Given the description of an element on the screen output the (x, y) to click on. 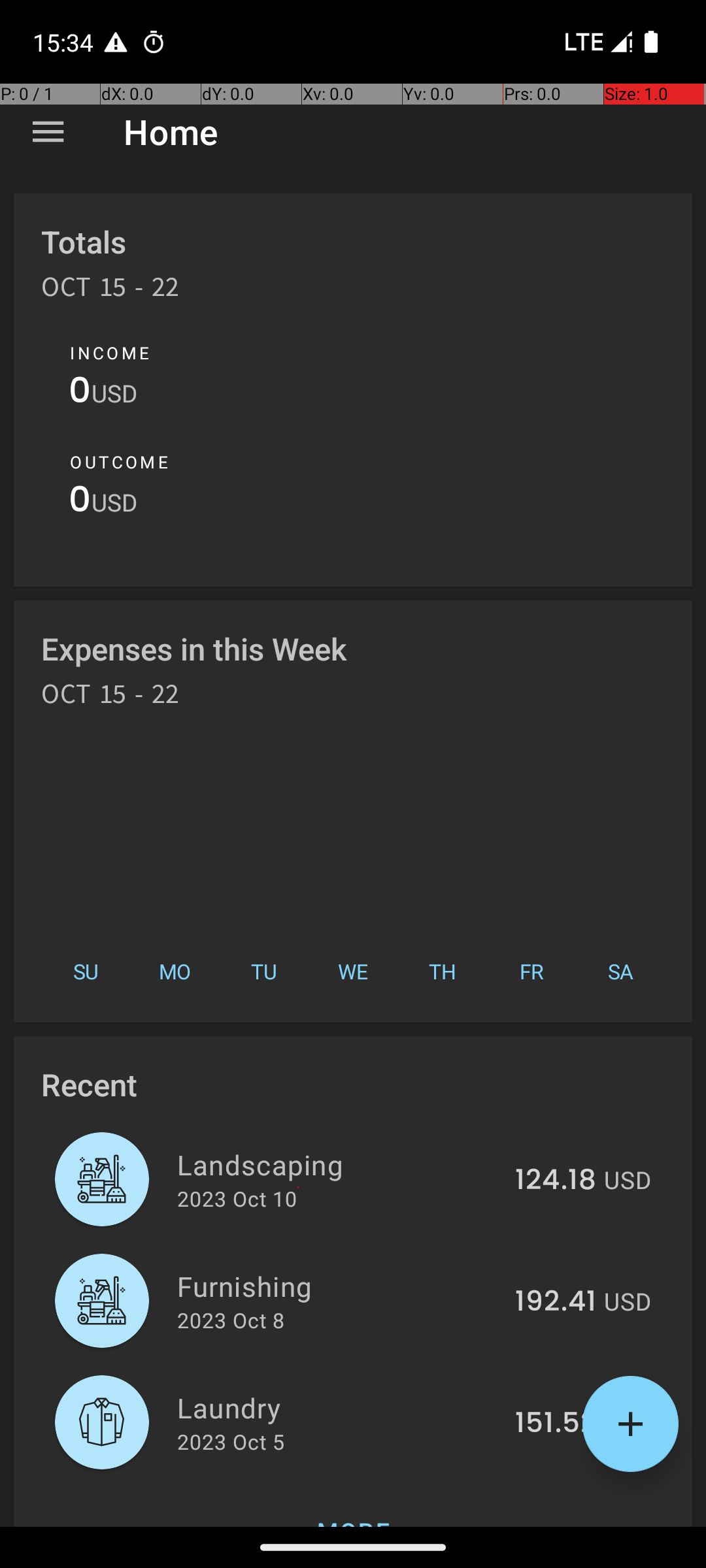
MORE Element type: android.widget.Button (352, 1504)
Landscaping Element type: android.widget.TextView (338, 1164)
124.18 Element type: android.widget.TextView (555, 1180)
Furnishing Element type: android.widget.TextView (338, 1285)
2023 Oct 8 Element type: android.widget.TextView (230, 1320)
192.41 Element type: android.widget.TextView (555, 1301)
Laundry Element type: android.widget.TextView (338, 1407)
2023 Oct 5 Element type: android.widget.TextView (230, 1441)
151.52 Element type: android.widget.TextView (555, 1423)
